Given the description of an element on the screen output the (x, y) to click on. 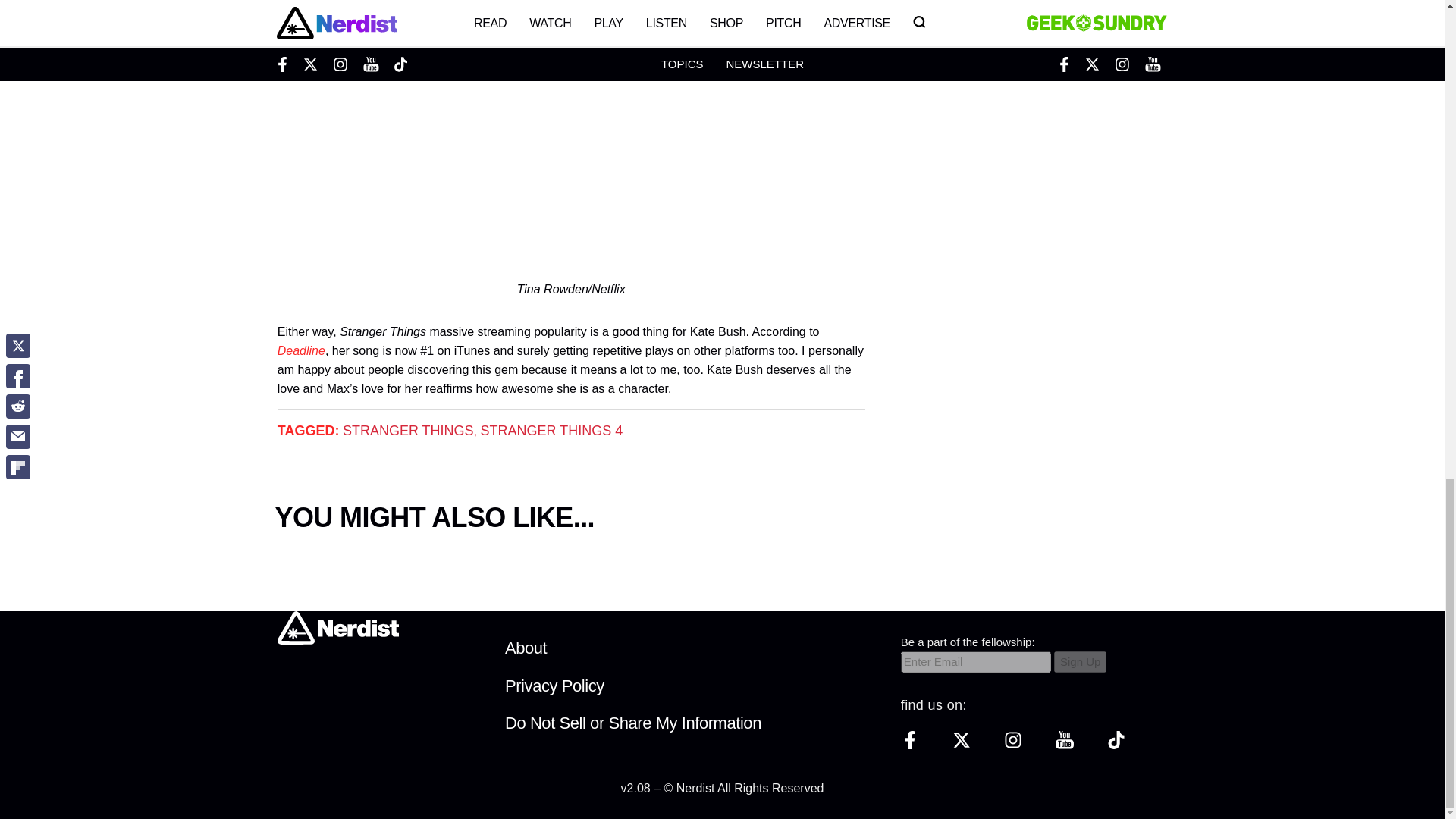
STRANGER THINGS 4 (551, 430)
Sign Up (1080, 662)
Do Not Sell or Share My Information (633, 722)
STRANGER THINGS (408, 430)
Sign Up (1080, 662)
Privacy Policy (554, 685)
About (526, 647)
Deadline (301, 350)
